Given the description of an element on the screen output the (x, y) to click on. 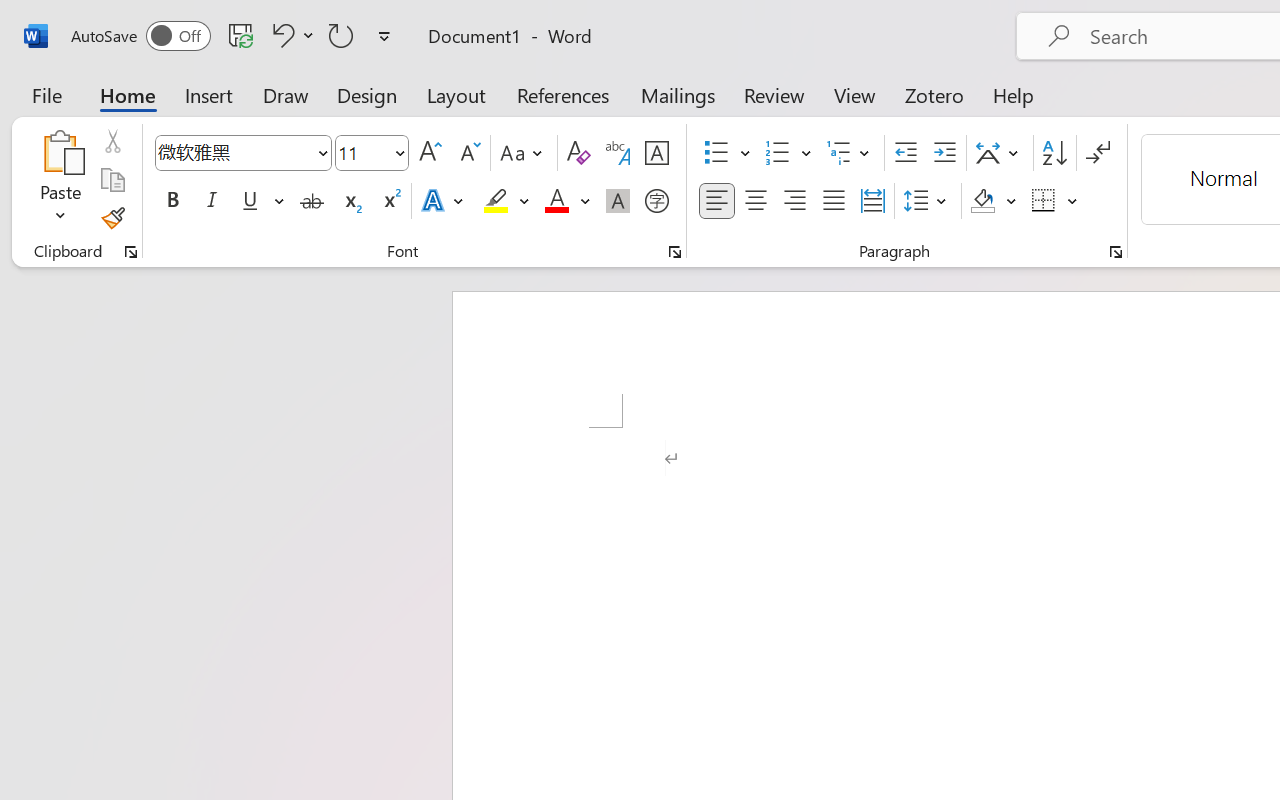
Undo <ApplyStyleToDoc>b__0 (290, 35)
